Given the description of an element on the screen output the (x, y) to click on. 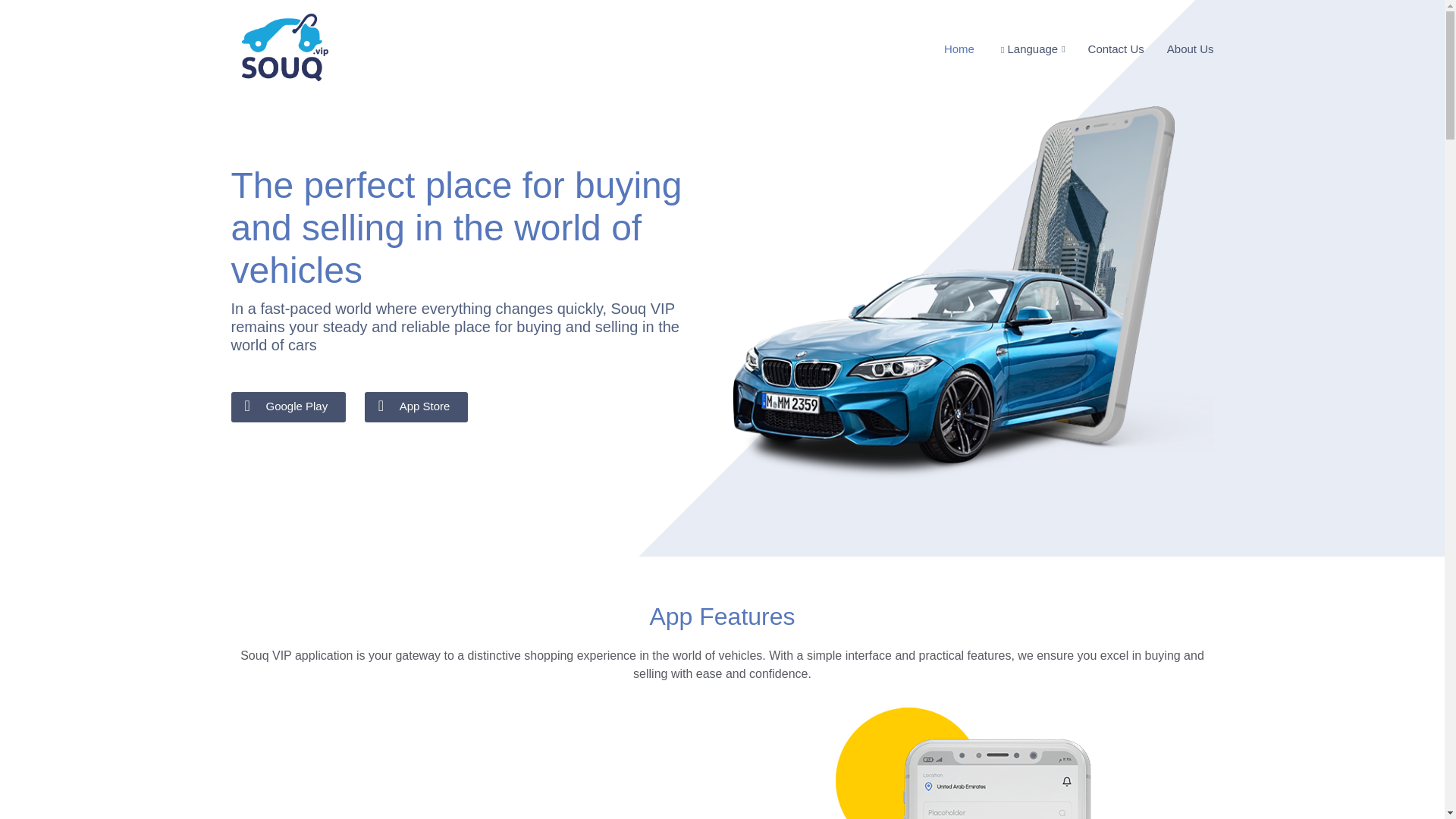
Contact Us (1104, 49)
Google Play (288, 407)
About Us (1179, 49)
Contact Us (1104, 49)
App Store (416, 407)
Language (1019, 49)
Home (947, 49)
About Us (1179, 49)
Home (947, 49)
